Given the description of an element on the screen output the (x, y) to click on. 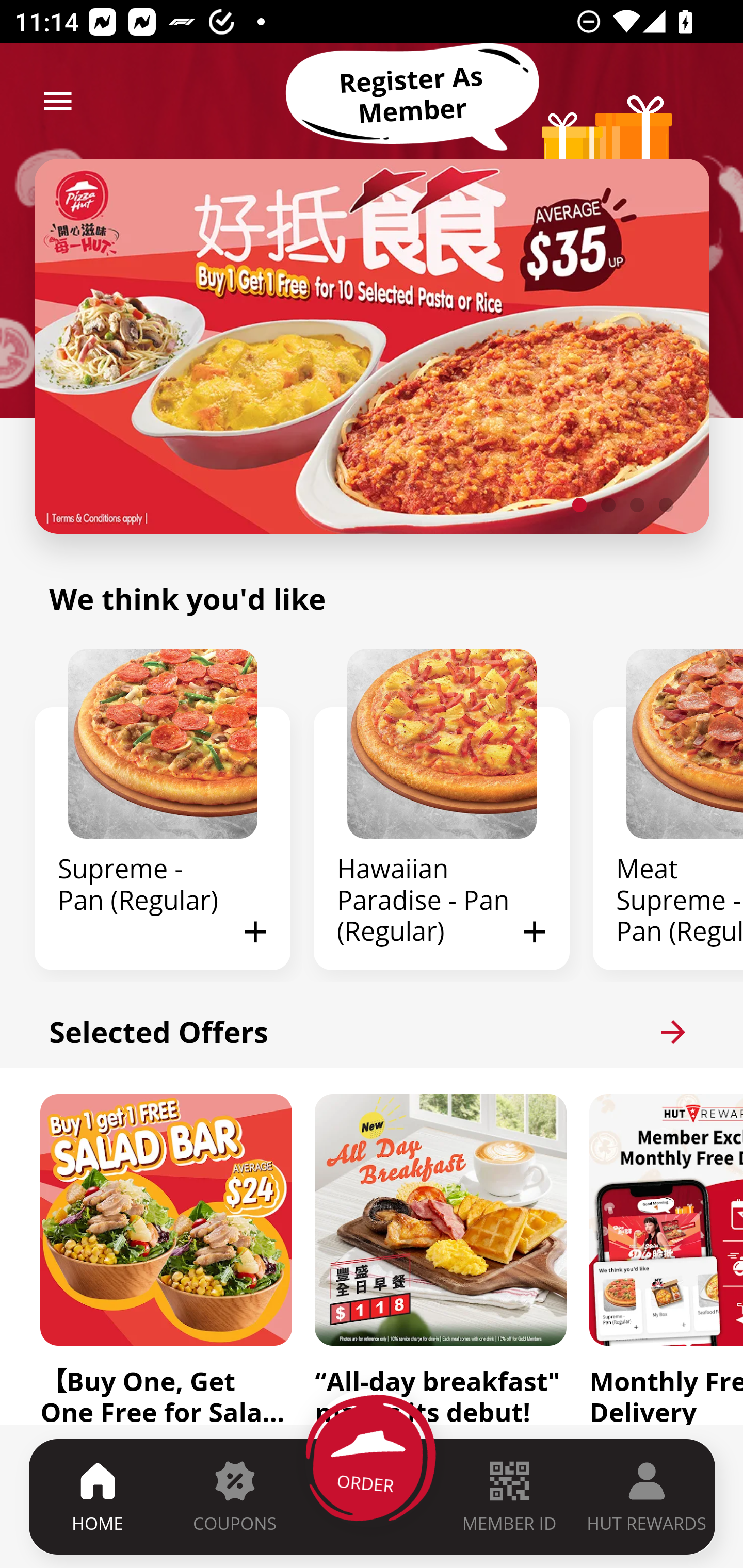
Register As Member (411, 95)
menu (58, 100)
arrow_forward (672, 1031)
HOME (97, 1496)
COUPONS (234, 1496)
ORDER (372, 1496)
MEMBER ID (509, 1496)
HUT REWARDS (647, 1496)
